Given the description of an element on the screen output the (x, y) to click on. 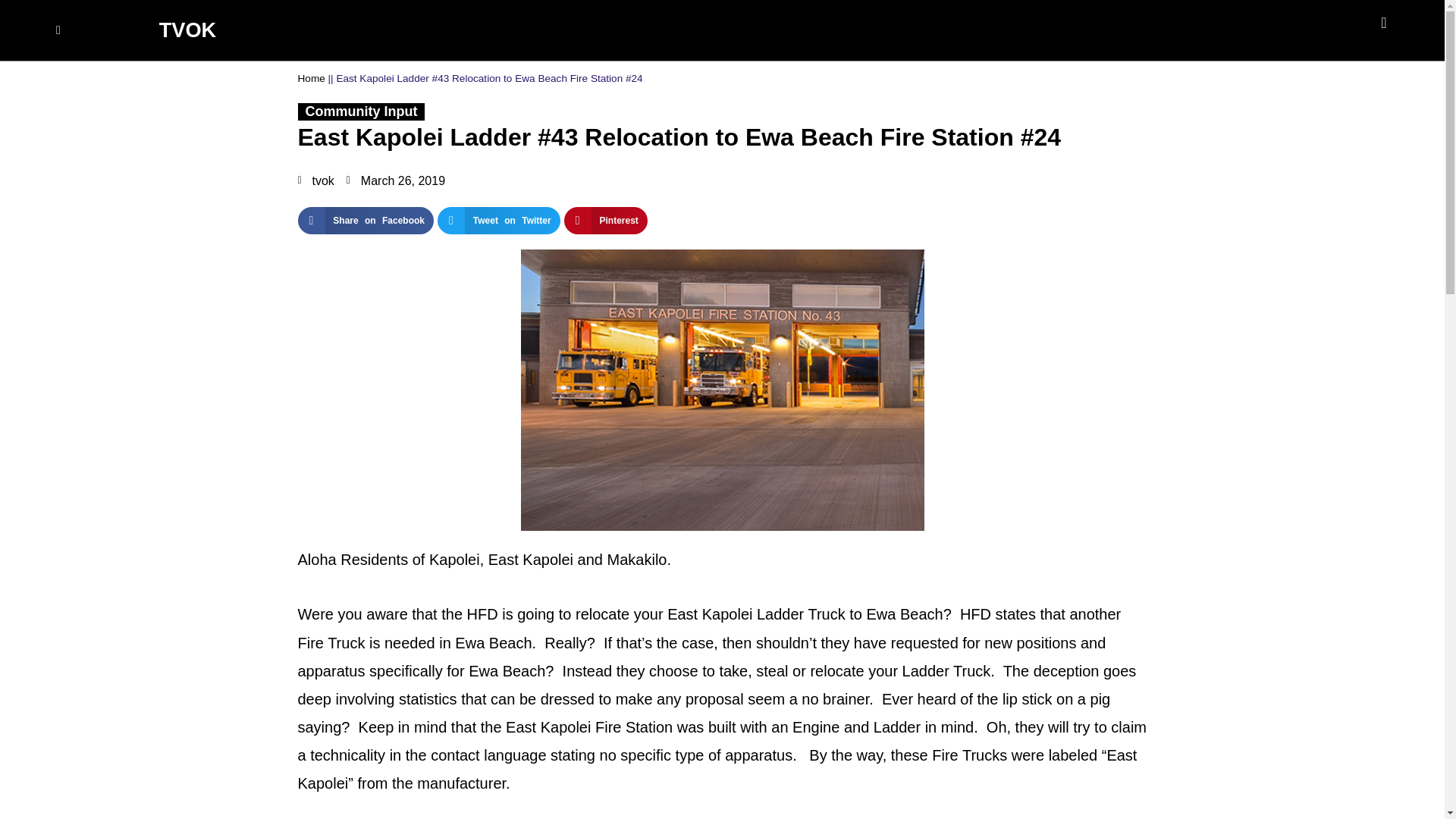
March 26, 2019 (395, 180)
Home (310, 78)
Community Input (360, 111)
Facebook (1390, 30)
tvok (315, 180)
TVOK (187, 29)
